Given the description of an element on the screen output the (x, y) to click on. 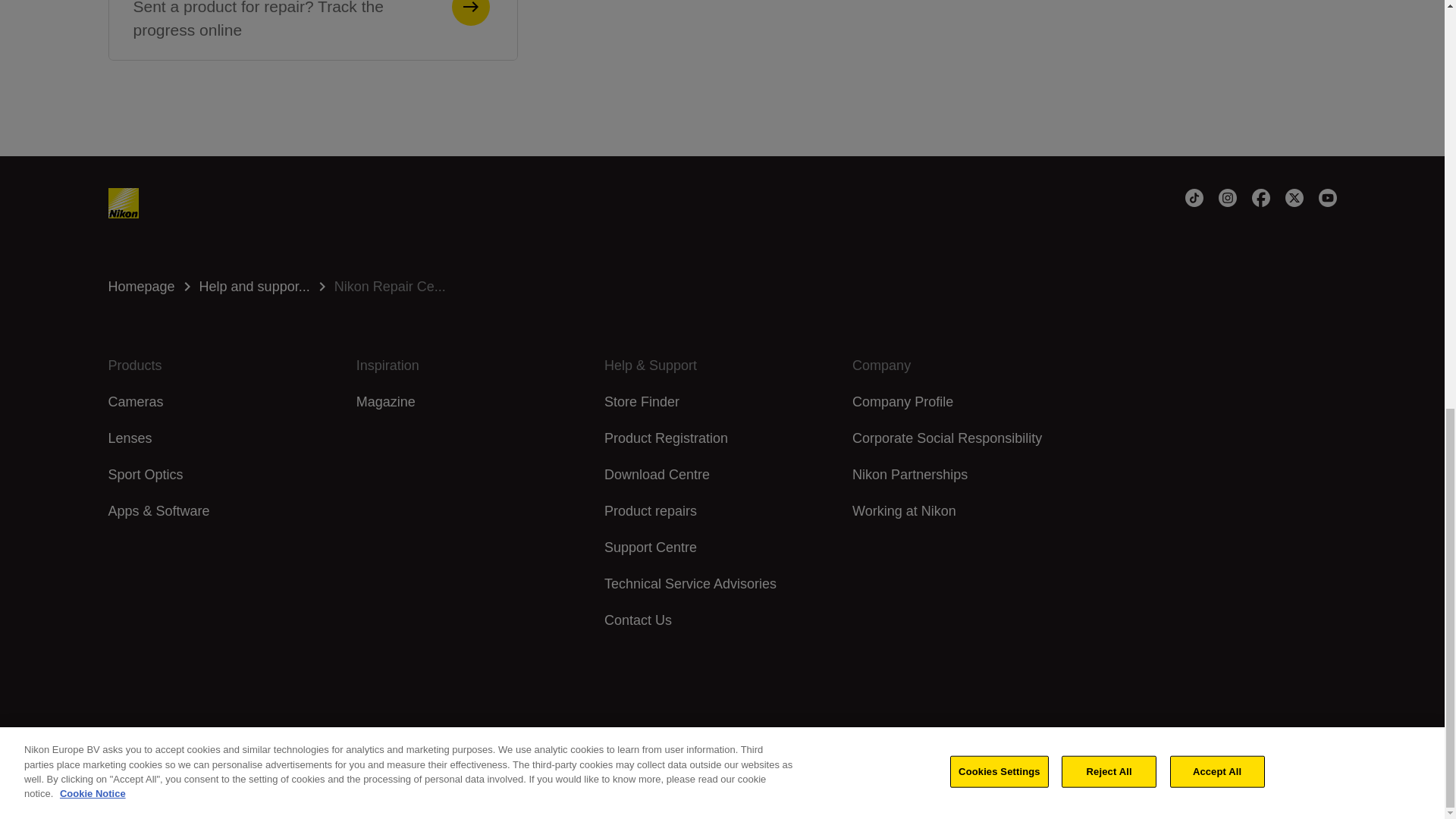
Homepage (140, 286)
Download Centre (657, 474)
Help and suppor... (254, 286)
Inspiration (474, 364)
Store Finder (721, 286)
Contact Us (641, 401)
Lenses (721, 286)
Company Profile (637, 620)
